Given the description of an element on the screen output the (x, y) to click on. 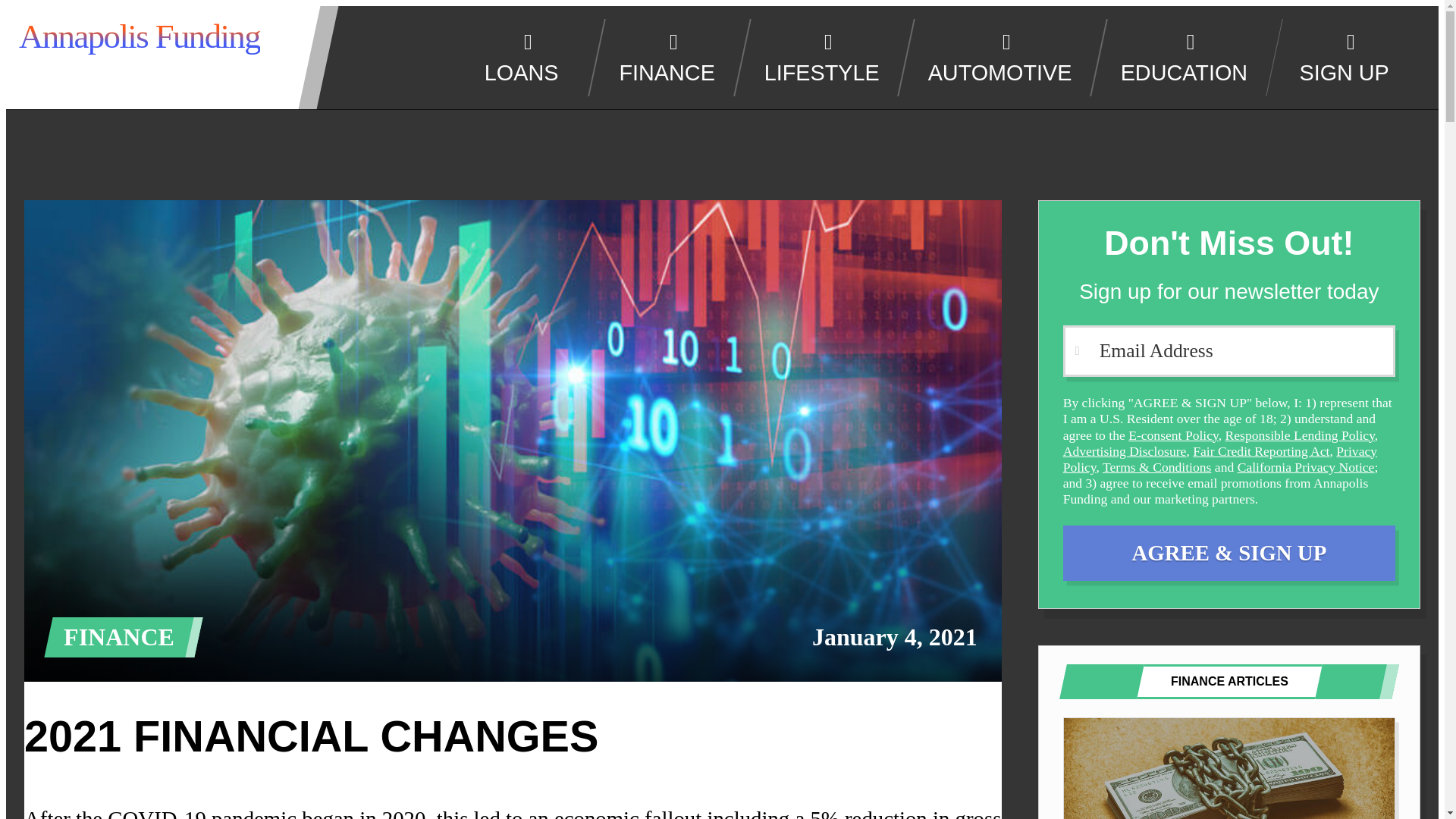
Privacy Policy (1219, 459)
LIFESTYLE (813, 56)
Loans (513, 56)
California Privacy Notice (1305, 467)
Lifestyle (813, 56)
EDUCATION (1175, 56)
Education (1175, 56)
Automotive (991, 56)
AUTOMOTIVE (991, 56)
FINANCE (659, 56)
